Given the description of an element on the screen output the (x, y) to click on. 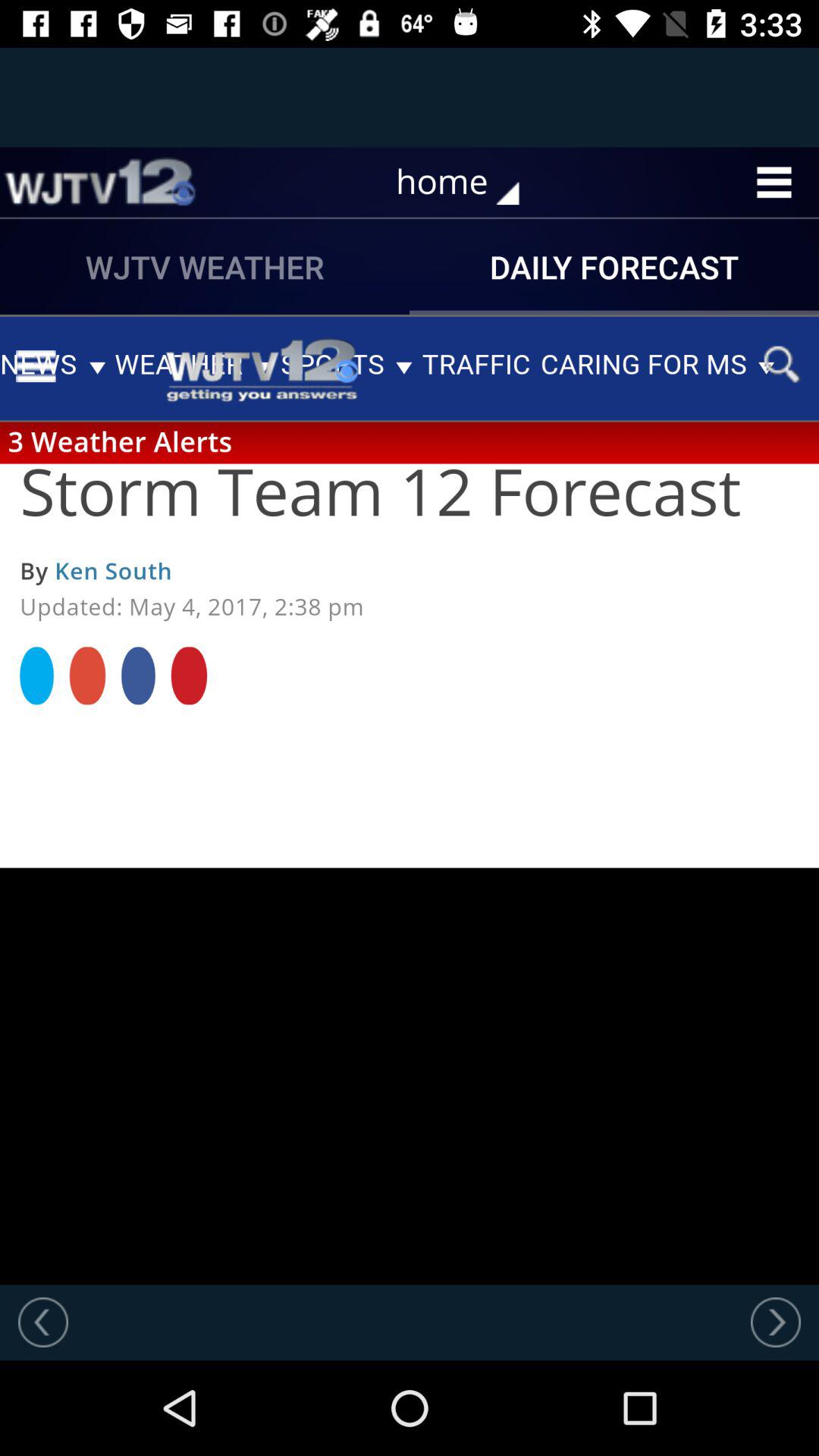
select item next to home icon (99, 182)
